Given the description of an element on the screen output the (x, y) to click on. 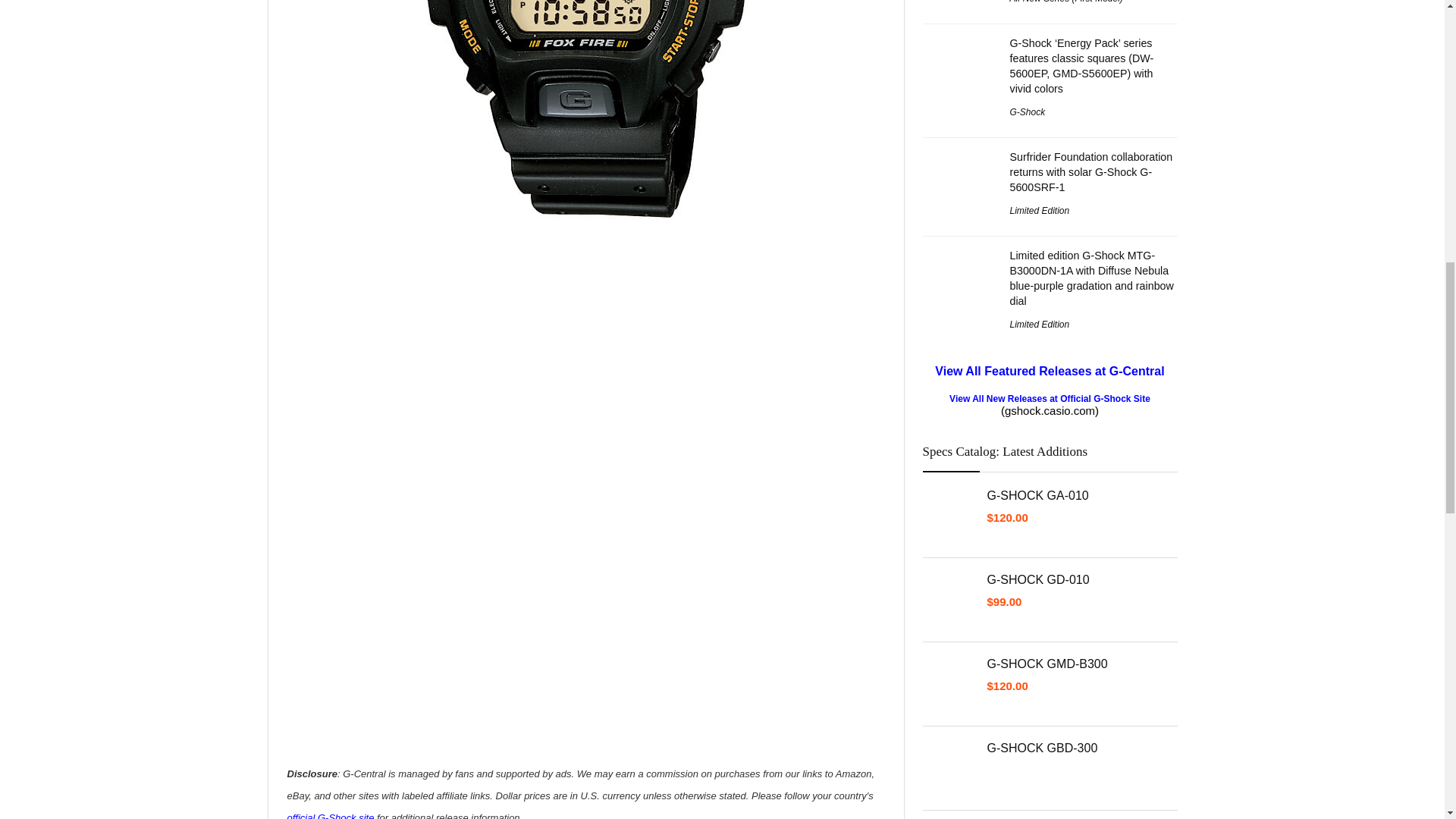
Pin it with Pinterest (383, 740)
Share on Reddit (354, 740)
Share on Facebook (298, 740)
Share by email (410, 740)
Share on Twitter (327, 740)
